Given the description of an element on the screen output the (x, y) to click on. 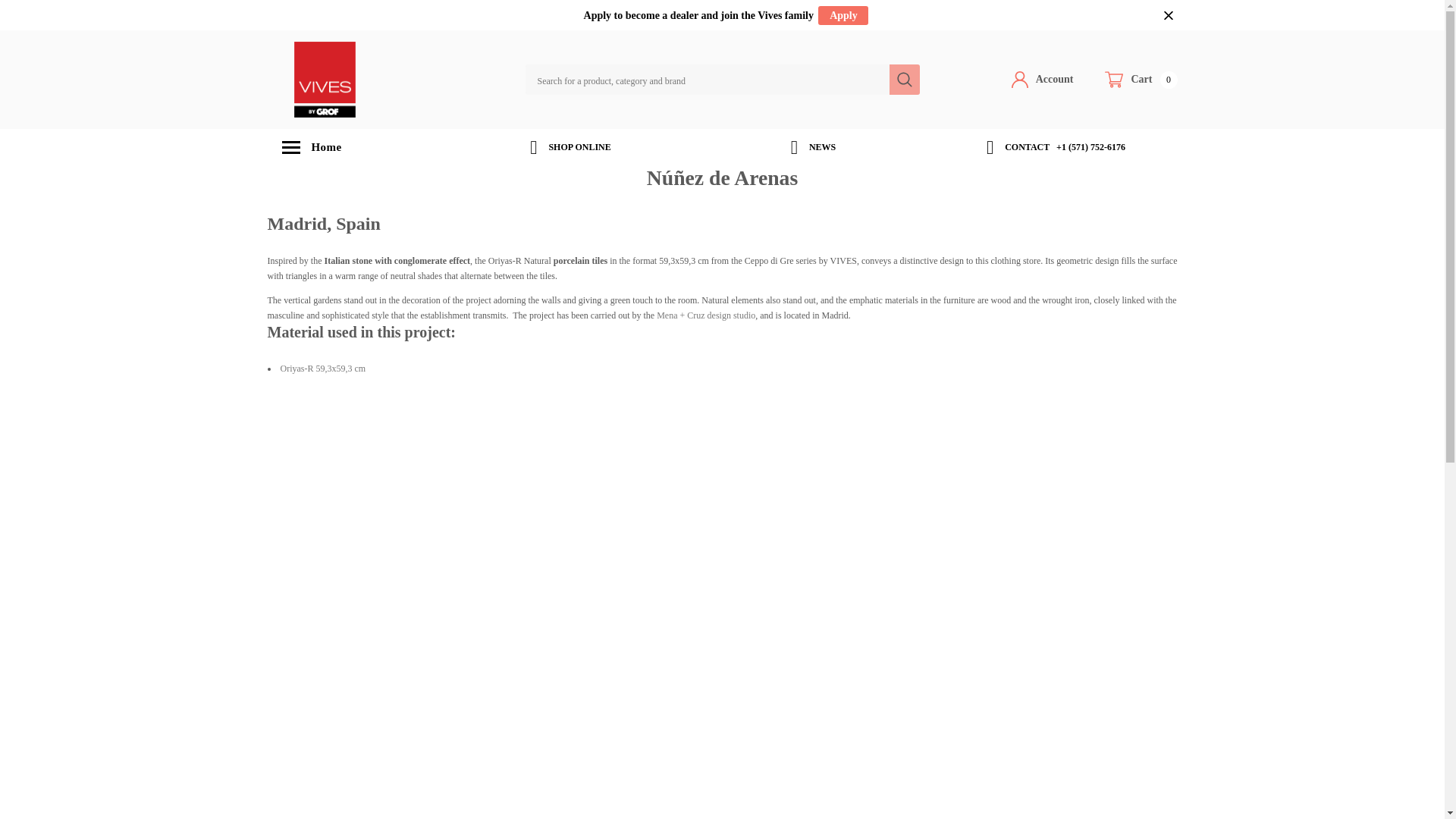
Home (357, 146)
Floor tile imitation terrazo Oriyas-R (323, 368)
Account (1042, 79)
Apply (842, 15)
close (1140, 79)
Apply (1168, 14)
